Given the description of an element on the screen output the (x, y) to click on. 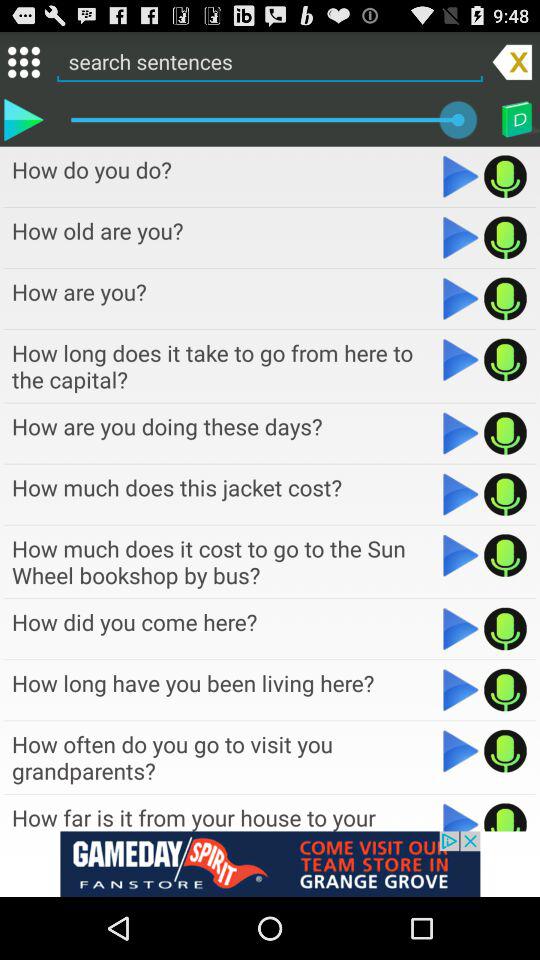
play how did you come here (460, 628)
